Given the description of an element on the screen output the (x, y) to click on. 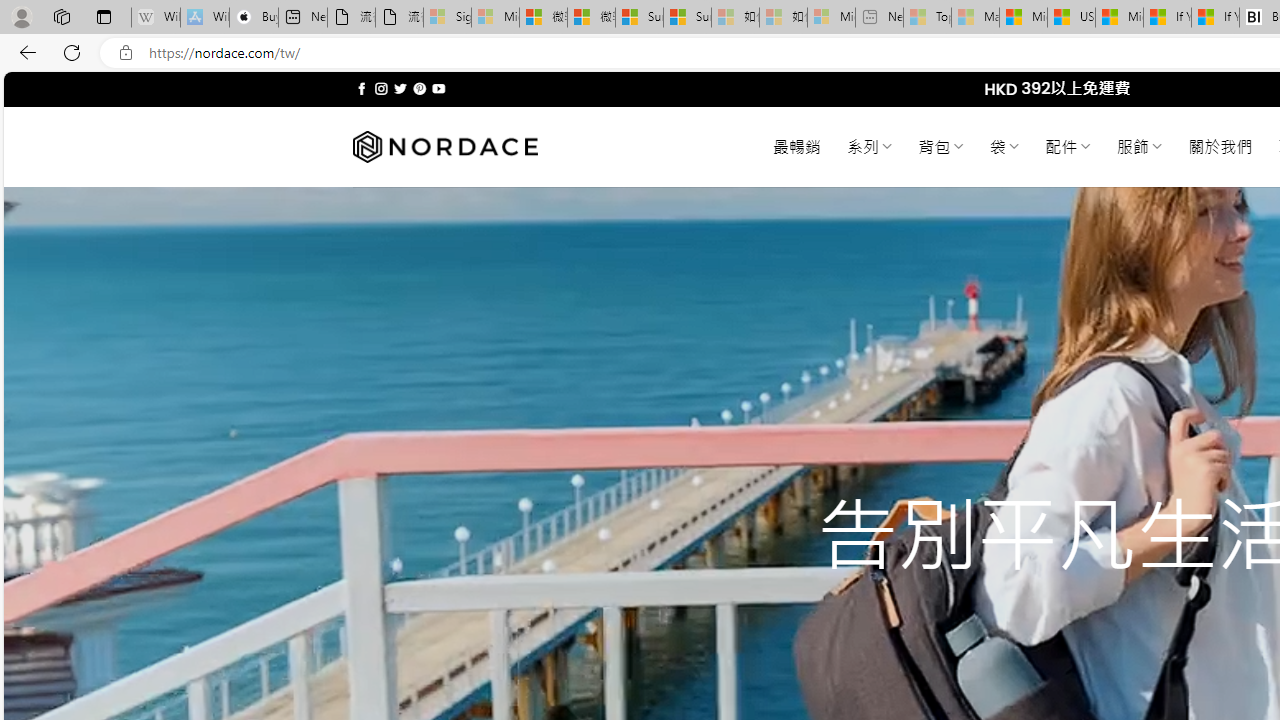
Follow on Twitter (400, 88)
Follow on Facebook (361, 88)
Top Stories - MSN - Sleeping (927, 17)
Buy iPad - Apple (253, 17)
Nordace (444, 147)
Microsoft Services Agreement - Sleeping (495, 17)
Follow on Instagram (381, 88)
Nordace (444, 147)
